Given the description of an element on the screen output the (x, y) to click on. 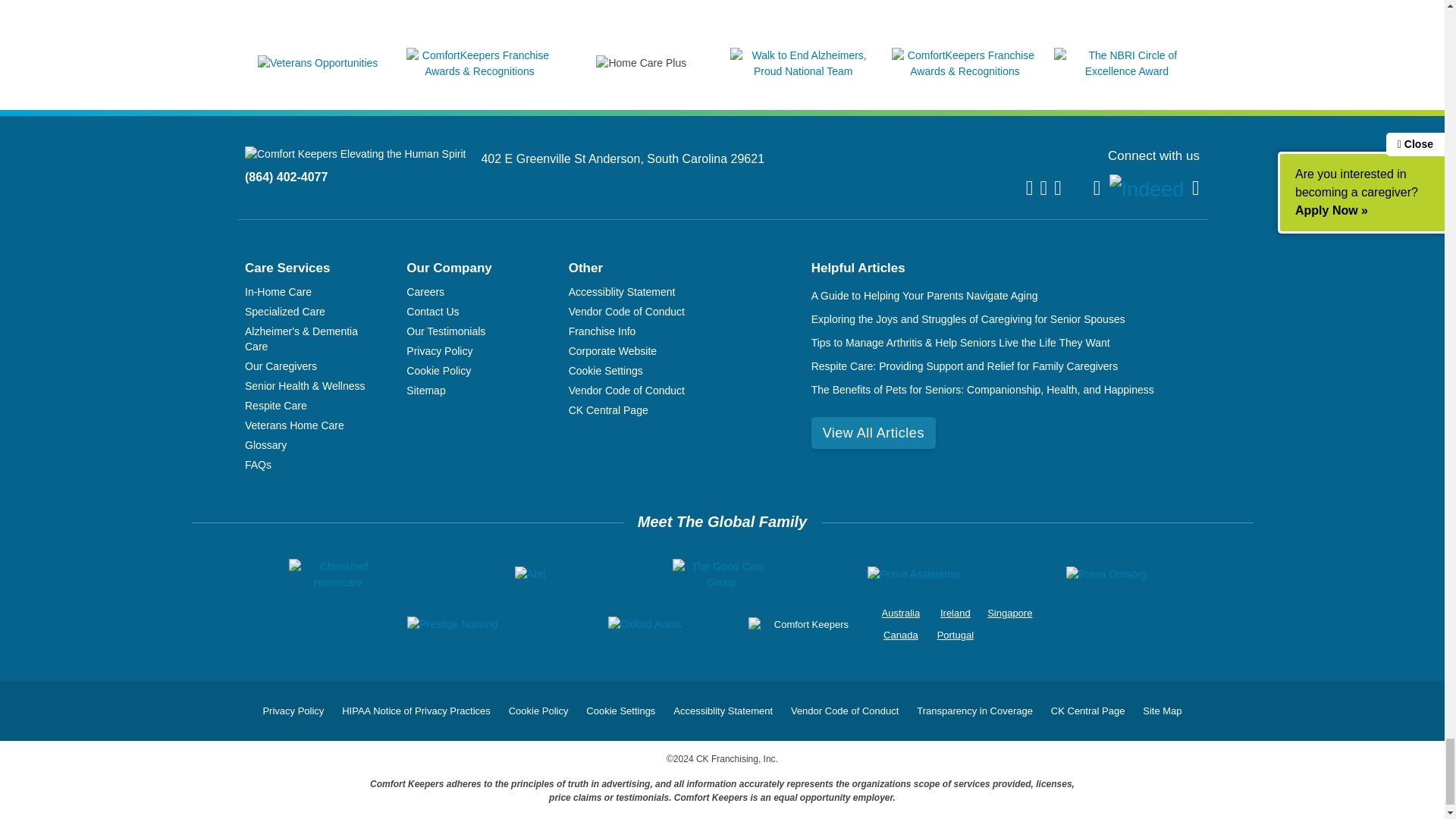
Prestige Nursing (452, 624)
Veterans Opportunities (317, 62)
Oxford Aunts (644, 624)
Indeed (1147, 189)
The Good Care Group (721, 574)
Cherished Homecare (337, 574)
Walk to End Alzheimers, Proud National Team (803, 70)
Indeed (1147, 189)
Prima Assistanse (913, 574)
Prima Omsorg (1106, 574)
